Given the description of an element on the screen output the (x, y) to click on. 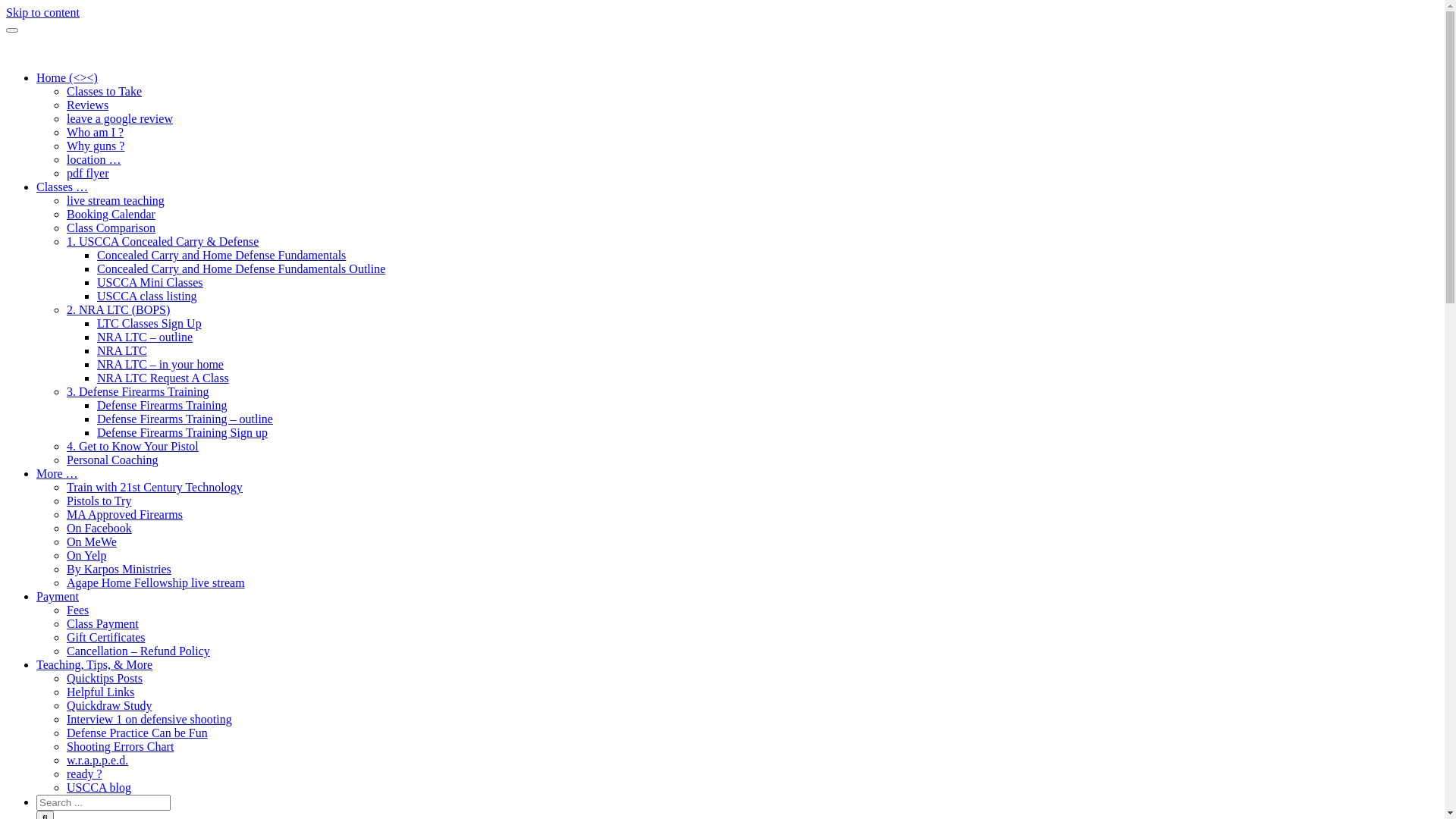
NRA LTC Request A Class Element type: text (163, 377)
Shooting Errors Chart Element type: text (119, 746)
Personal Coaching Element type: text (111, 459)
w.r.a.p.p.e.d. Element type: text (97, 759)
USCCA class listing Element type: text (147, 295)
Class Payment Element type: text (102, 623)
Defense Firearms Training Element type: text (162, 404)
NRA LTC Element type: text (122, 350)
On MeWe Element type: text (91, 541)
Booking Calendar Element type: text (110, 213)
By Karpos Ministries Element type: text (118, 568)
Defense Practice Can be Fun Element type: text (136, 732)
Gift Certificates Element type: text (105, 636)
leave a google review Element type: text (119, 118)
ready ? Element type: text (84, 773)
On Facebook Element type: text (98, 527)
Defense Firearms Training Sign up Element type: text (182, 432)
Quicktips Posts Element type: text (104, 677)
Skip to content Element type: text (42, 12)
3. Defense Firearms Training Element type: text (137, 391)
On Yelp Element type: text (86, 555)
pdf flyer Element type: text (87, 172)
LTC Classes Sign Up Element type: text (149, 322)
Class Comparison Element type: text (110, 227)
Classes to Take Element type: text (103, 90)
Concealed Carry and Home Defense Fundamentals Outline Element type: text (241, 268)
Train with 21st Century Technology Element type: text (154, 486)
USCCA blog Element type: text (98, 787)
Pistols to Try Element type: text (98, 500)
Fees Element type: text (77, 609)
Helpful Links Element type: text (100, 691)
4. Get to Know Your Pistol Element type: text (132, 445)
MA Approved Firearms Element type: text (124, 514)
Who am I ? Element type: text (94, 131)
Reviews Element type: text (87, 104)
Home (<><) Element type: text (66, 77)
Why guns ? Element type: text (95, 145)
Quickdraw Study Element type: text (108, 705)
live stream teaching Element type: text (115, 200)
1. USCCA Concealed Carry & Defense Element type: text (162, 241)
Agape Home Fellowship live stream Element type: text (155, 582)
Concealed Carry and Home Defense Fundamentals Element type: text (221, 254)
Teaching, Tips, & More Element type: text (94, 664)
2. NRA LTC (BOPS) Element type: text (117, 309)
Interview 1 on defensive shooting Element type: text (149, 718)
USCCA Mini Classes Element type: text (150, 282)
Payment Element type: text (57, 595)
